Given the description of an element on the screen output the (x, y) to click on. 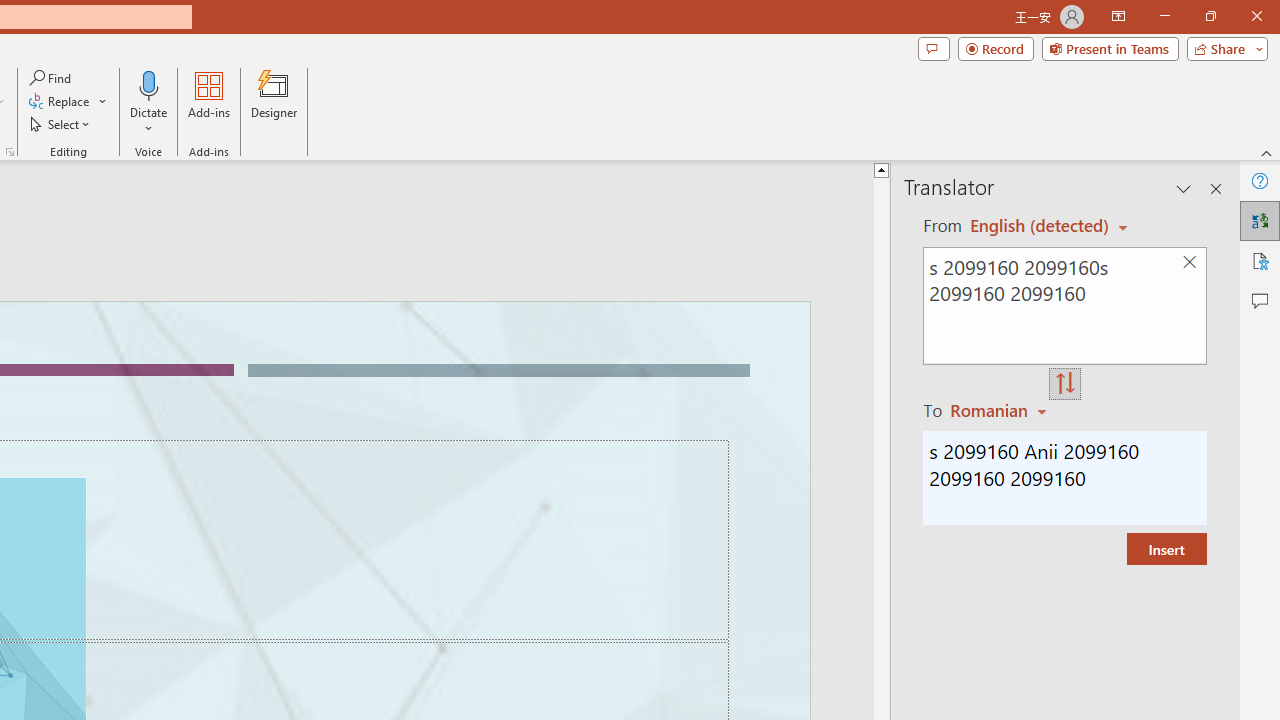
Czech (detected) (1039, 225)
Clear text (1189, 262)
Swap "from" and "to" languages. (1065, 383)
